Given the description of an element on the screen output the (x, y) to click on. 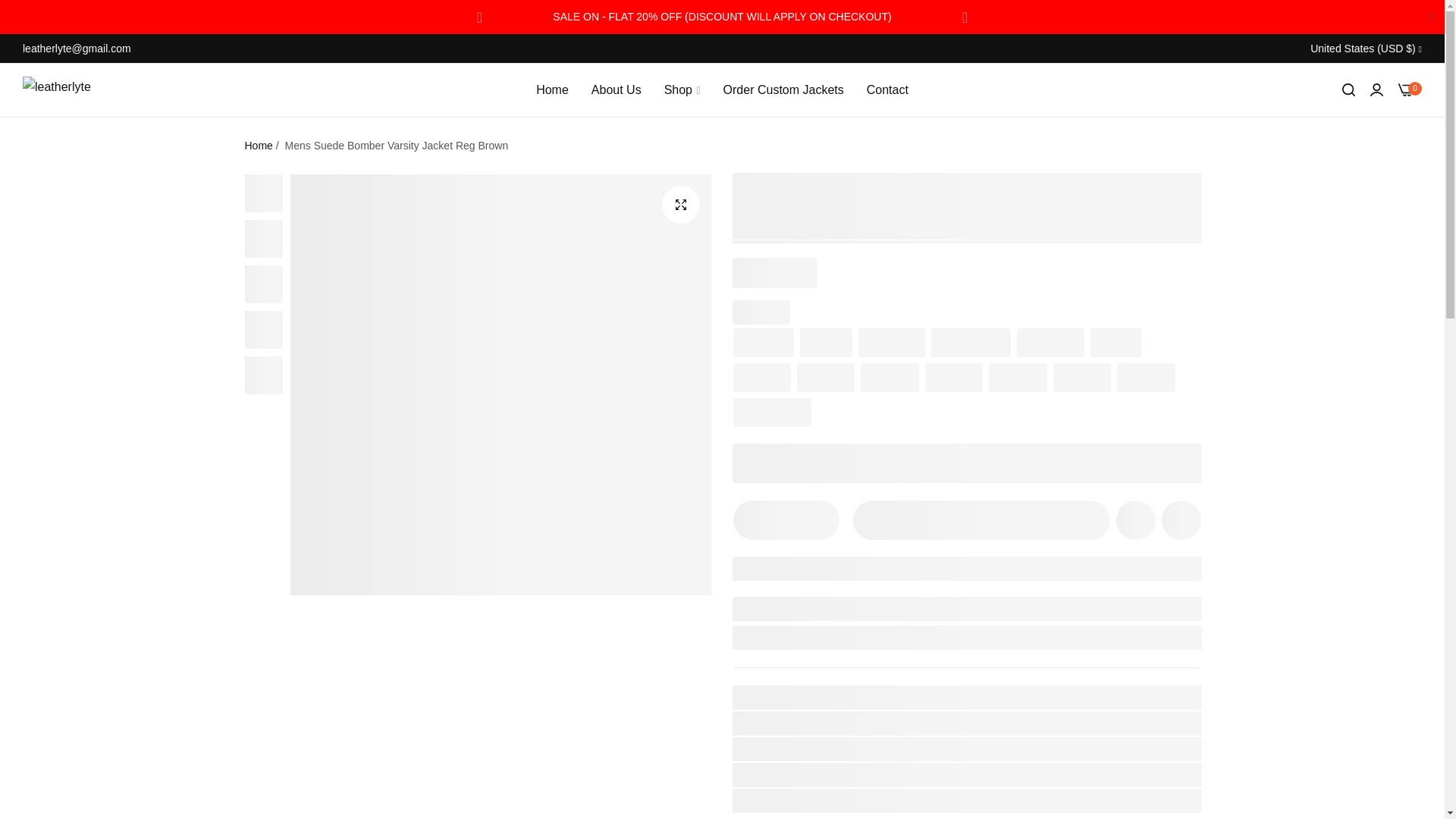
Shop (681, 90)
leatherlyte (827, 748)
Minus (753, 519)
Home (551, 90)
Plus (818, 519)
About Us (615, 90)
1 (786, 520)
Zoom in (679, 203)
Bomber Jacket Men (851, 773)
leatherlyte (71, 90)
